Given the description of an element on the screen output the (x, y) to click on. 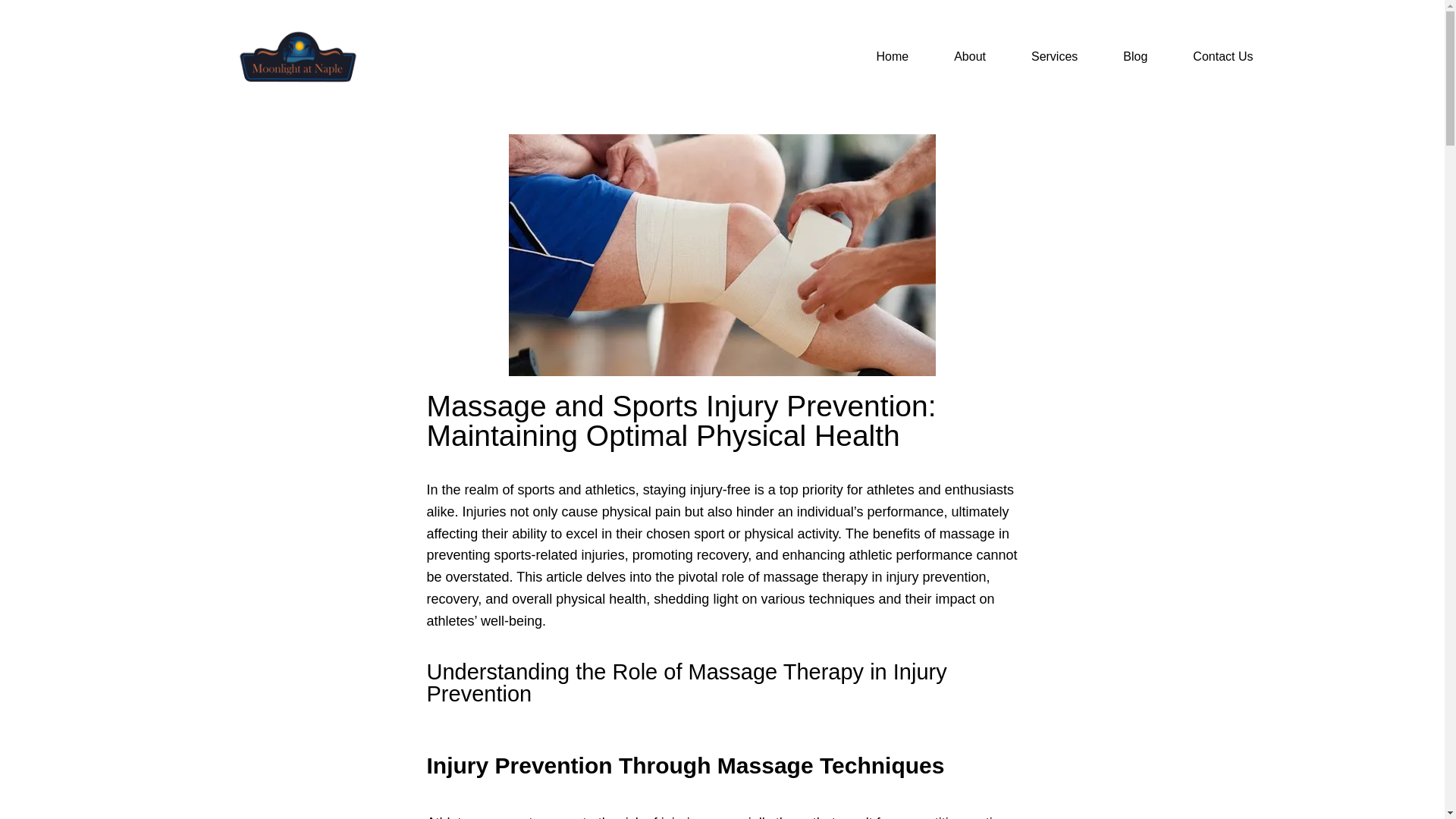
Contact Us (1222, 56)
Services (1053, 56)
Home (892, 56)
Injury Prevention Through Massage Techniques (684, 765)
About (969, 56)
benefits of massage (933, 533)
Blog (1134, 56)
